Given the description of an element on the screen output the (x, y) to click on. 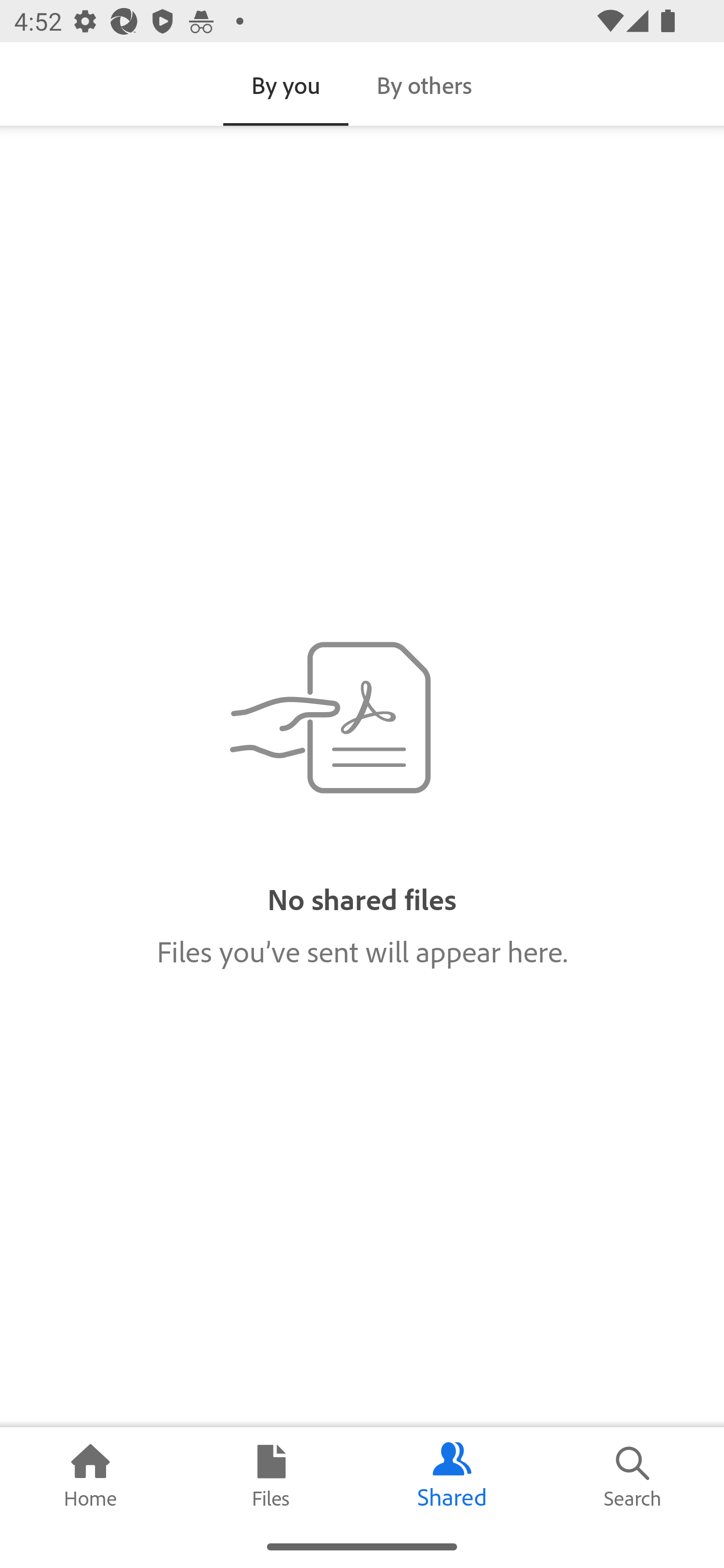
By you (285, 84)
By others (424, 84)
Home (90, 1475)
Files (271, 1475)
Shared (452, 1475)
Search (633, 1475)
